Given the description of an element on the screen output the (x, y) to click on. 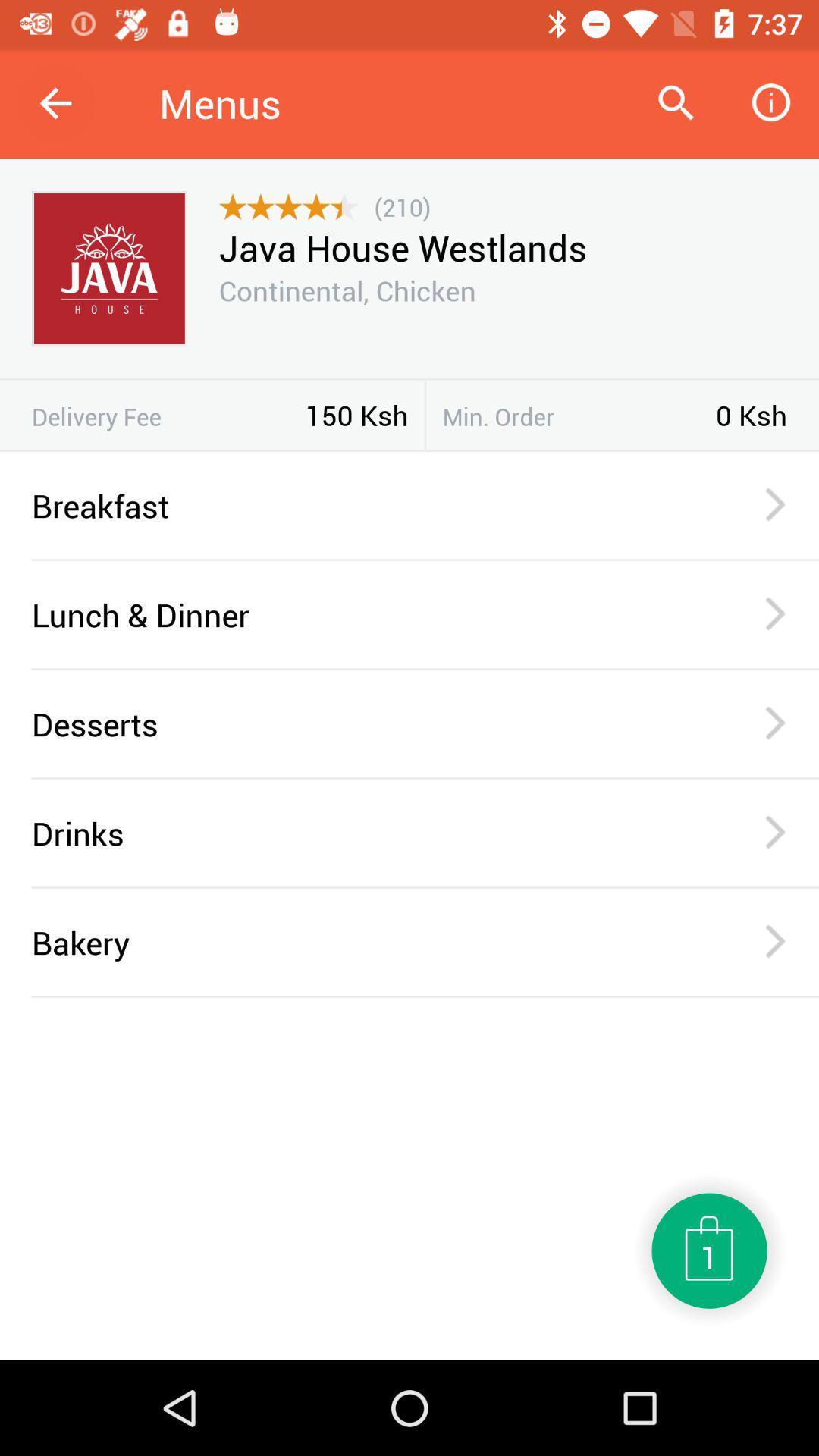
launch the icon to the left of the min. order item (425, 414)
